Given the description of an element on the screen output the (x, y) to click on. 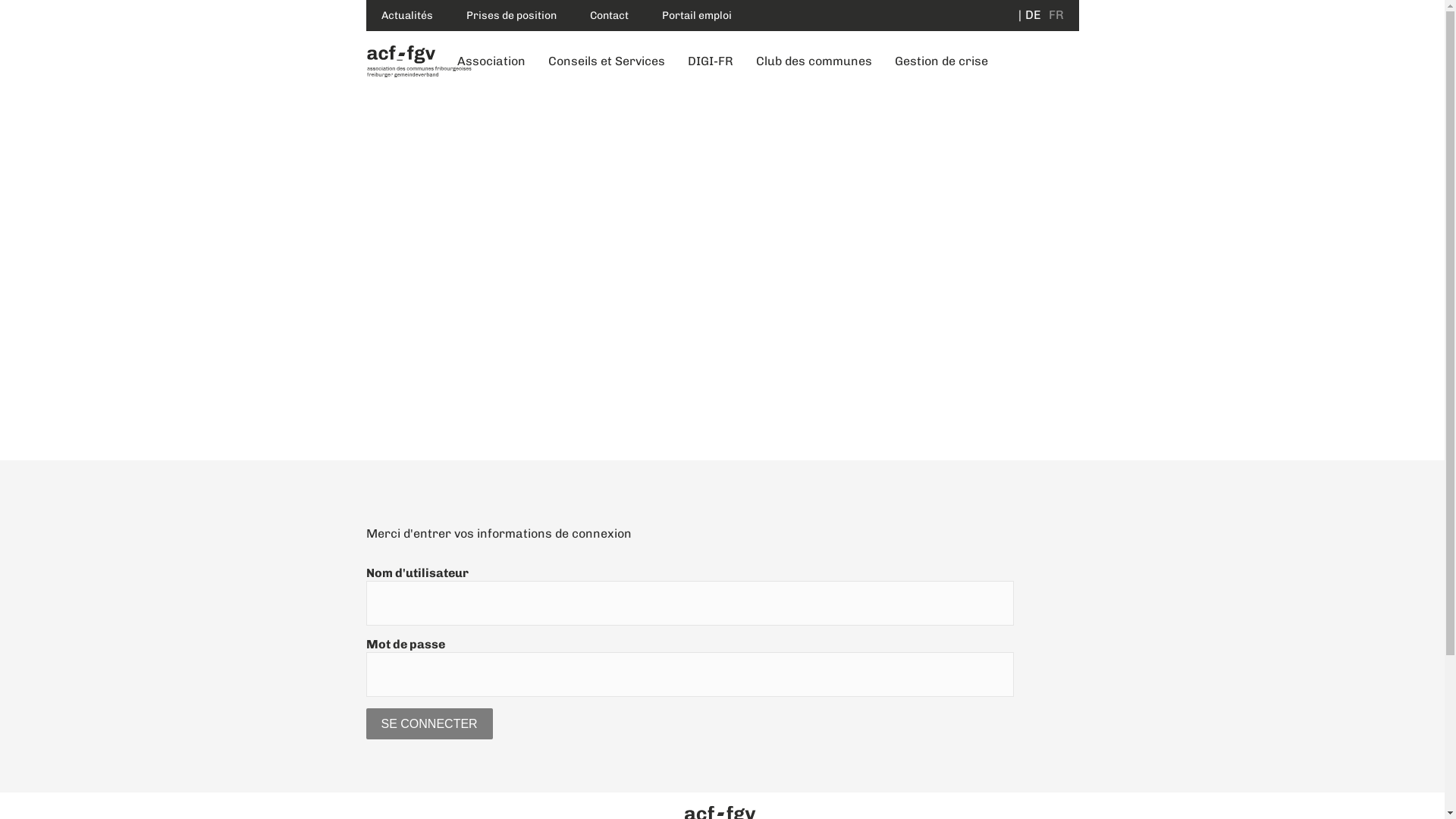
Contact Element type: text (608, 15)
Prises de position Element type: text (510, 15)
FR Element type: text (1053, 15)
DE Element type: text (1029, 15)
Club des communes Element type: text (813, 61)
DIGI-FR Element type: text (710, 61)
Conseils et Services Element type: text (606, 61)
Gestion de crise Element type: text (940, 61)
Association Element type: text (490, 61)
Se connecter Element type: text (428, 723)
Portail emploi Element type: text (696, 15)
acf-fgv.ch Element type: text (418, 61)
